Given the description of an element on the screen output the (x, y) to click on. 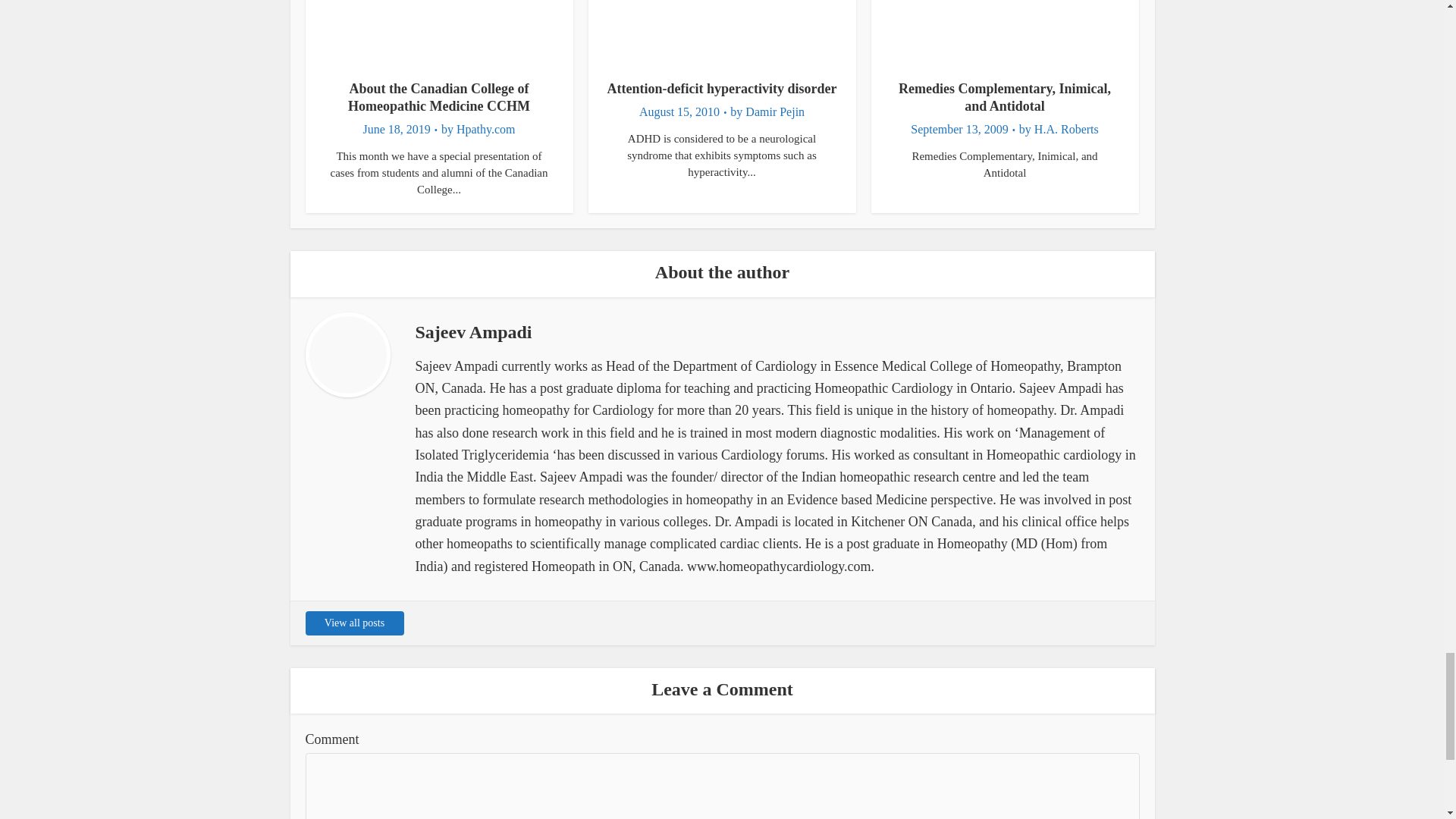
Remedies Complementary, Inimical, and Antidotal (1004, 97)
About the Canadian College of Homeopathic Medicine CCHM (438, 97)
Attention-deficit hyperactivity disorder (722, 88)
